Given the description of an element on the screen output the (x, y) to click on. 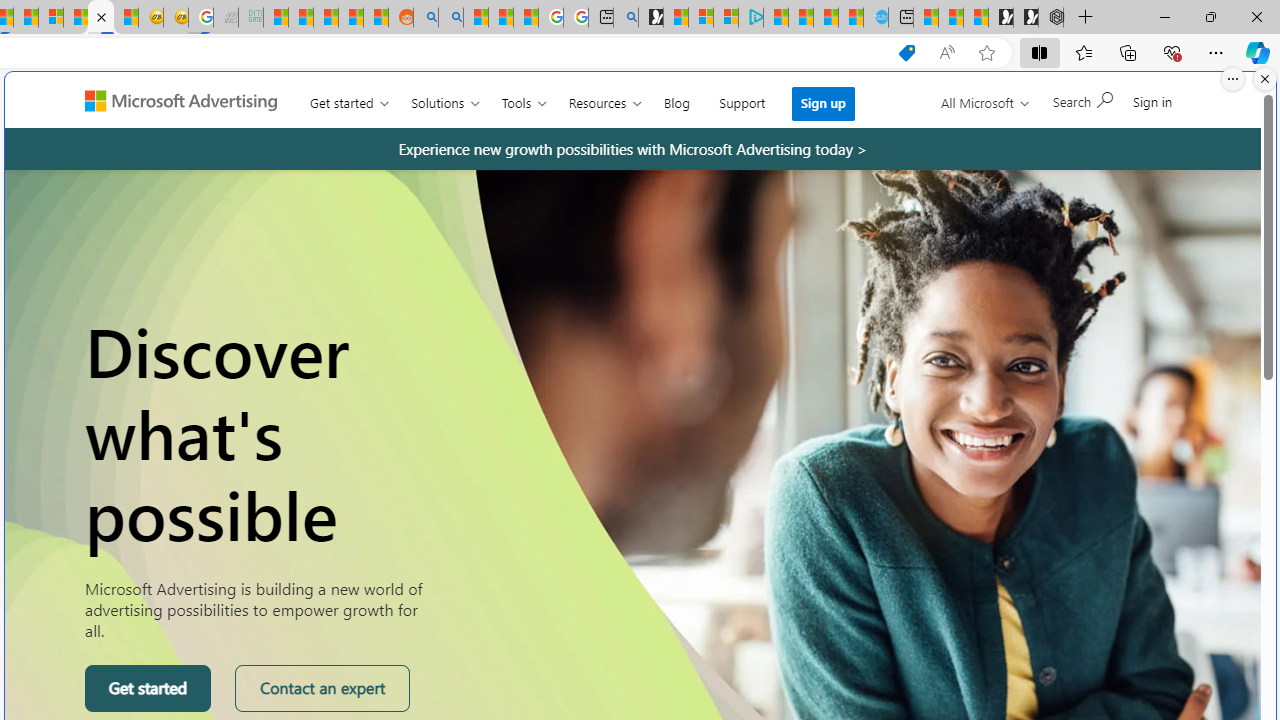
Student Loan Update: Forgiveness Program Ends This Month (351, 17)
